Given the description of an element on the screen output the (x, y) to click on. 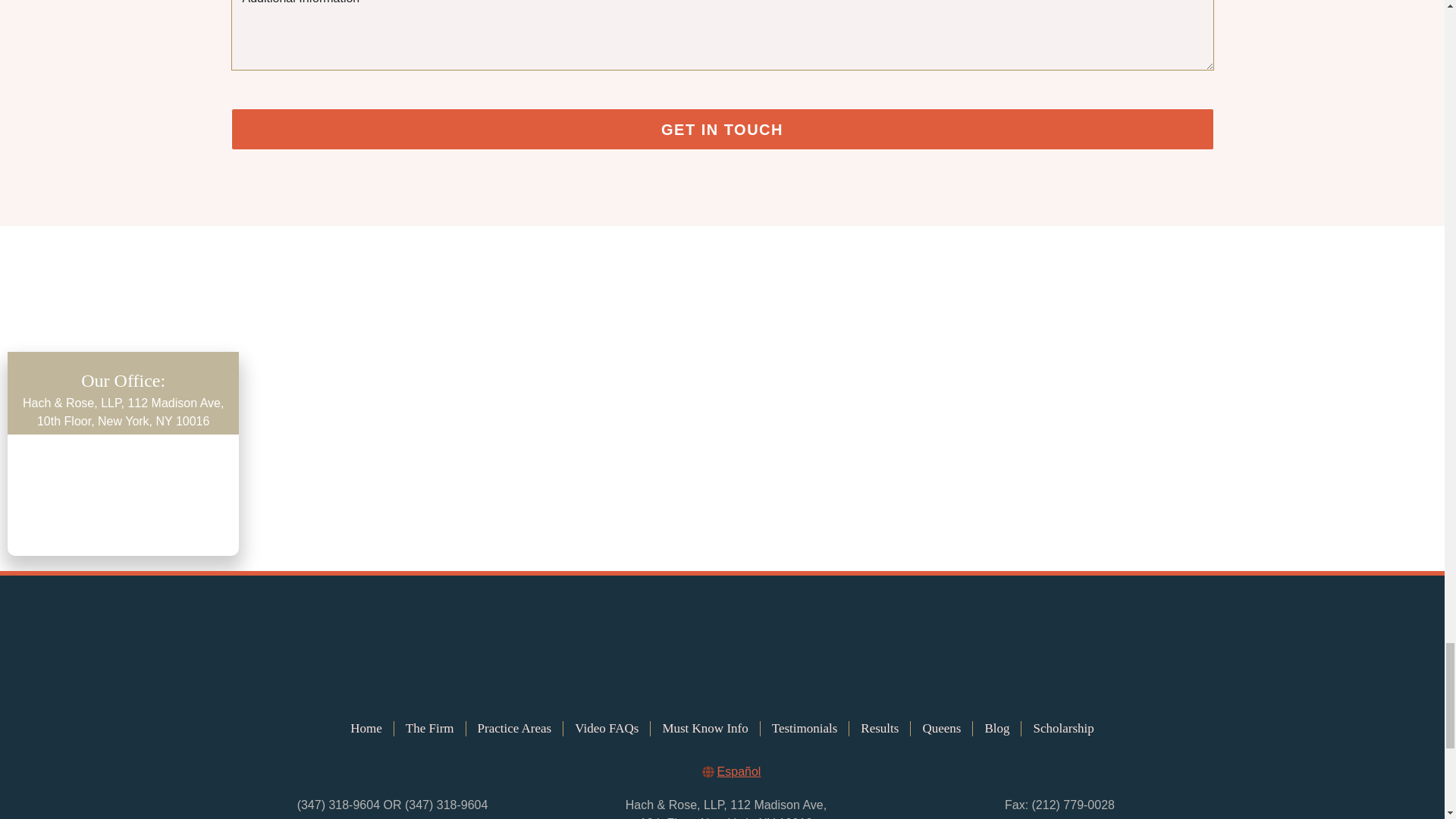
Get in touch (721, 128)
